Given the description of an element on the screen output the (x, y) to click on. 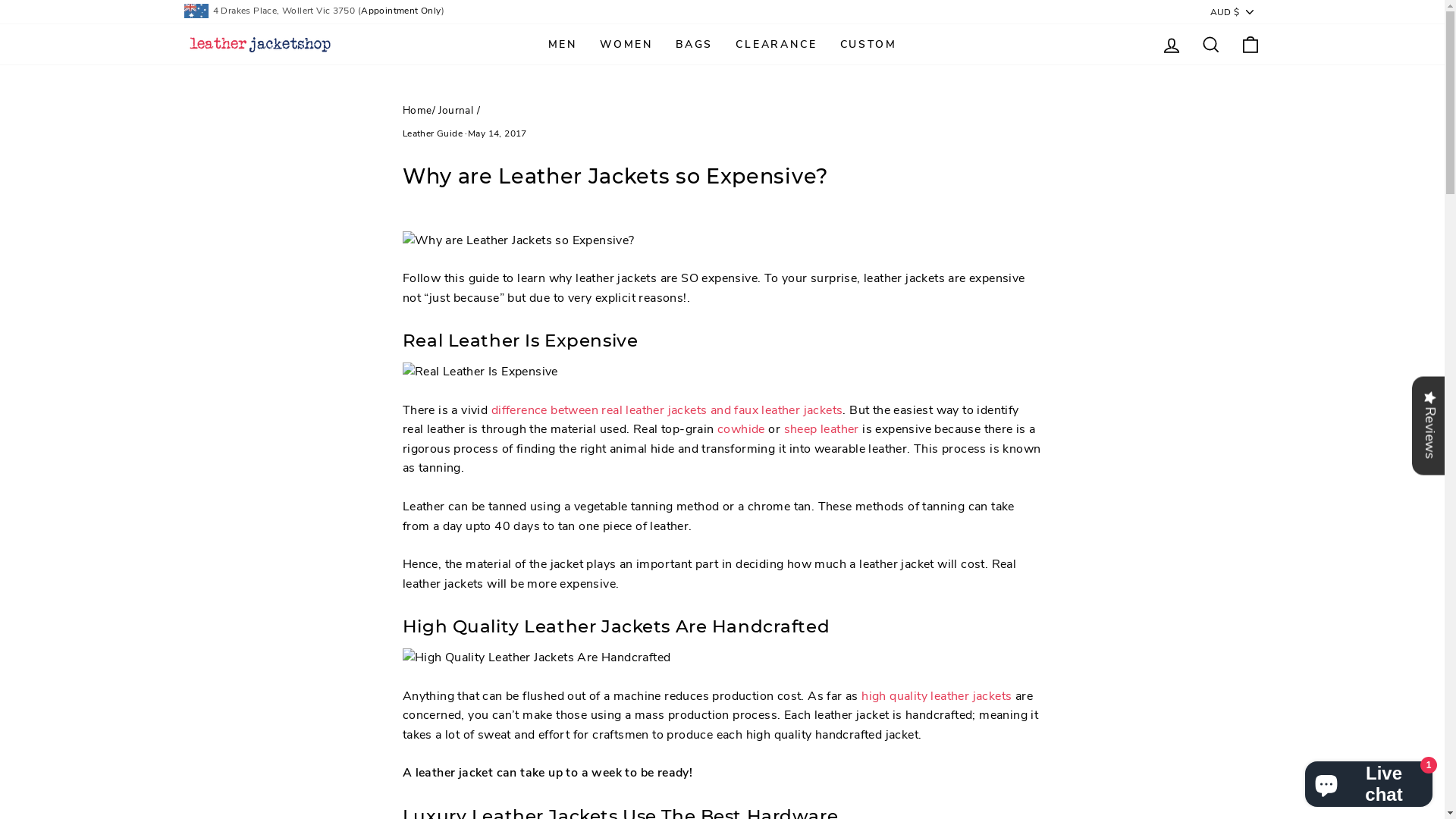
AUD $ Element type: text (1233, 12)
MEN Element type: text (562, 44)
Journal Element type: text (455, 110)
WOMEN Element type: text (626, 44)
LOG IN Element type: text (1170, 44)
high quality leather jackets Element type: text (936, 696)
CLEARANCE Element type: text (776, 44)
sheep leather Element type: text (821, 429)
Shopify online store chat Element type: hover (1368, 780)
CART Element type: text (1249, 44)
Home Element type: text (417, 110)
BAGS Element type: text (694, 44)
Skip to content Element type: text (0, 0)
cowhide Element type: text (741, 429)
CUSTOM Element type: text (867, 44)
Leather Guide Element type: text (432, 133)
Appointment Only Element type: text (400, 10)
SEARCH Element type: text (1210, 44)
